Given the description of an element on the screen output the (x, y) to click on. 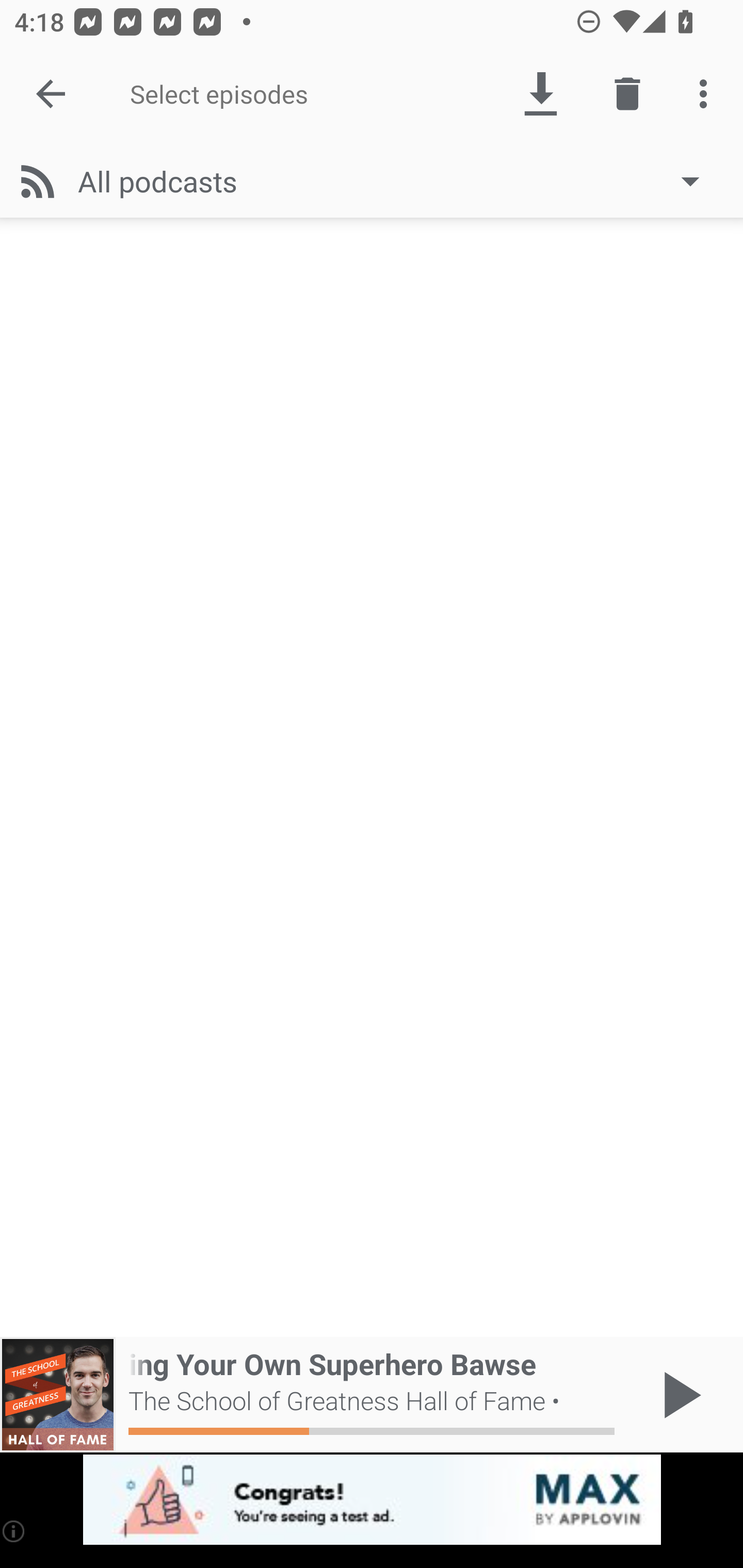
Done (50, 93)
Download (540, 93)
Delete episode (626, 93)
More options (706, 93)
All podcasts (398, 180)
Play / Pause (677, 1394)
app-monetization (371, 1500)
(i) (14, 1531)
